Given the description of an element on the screen output the (x, y) to click on. 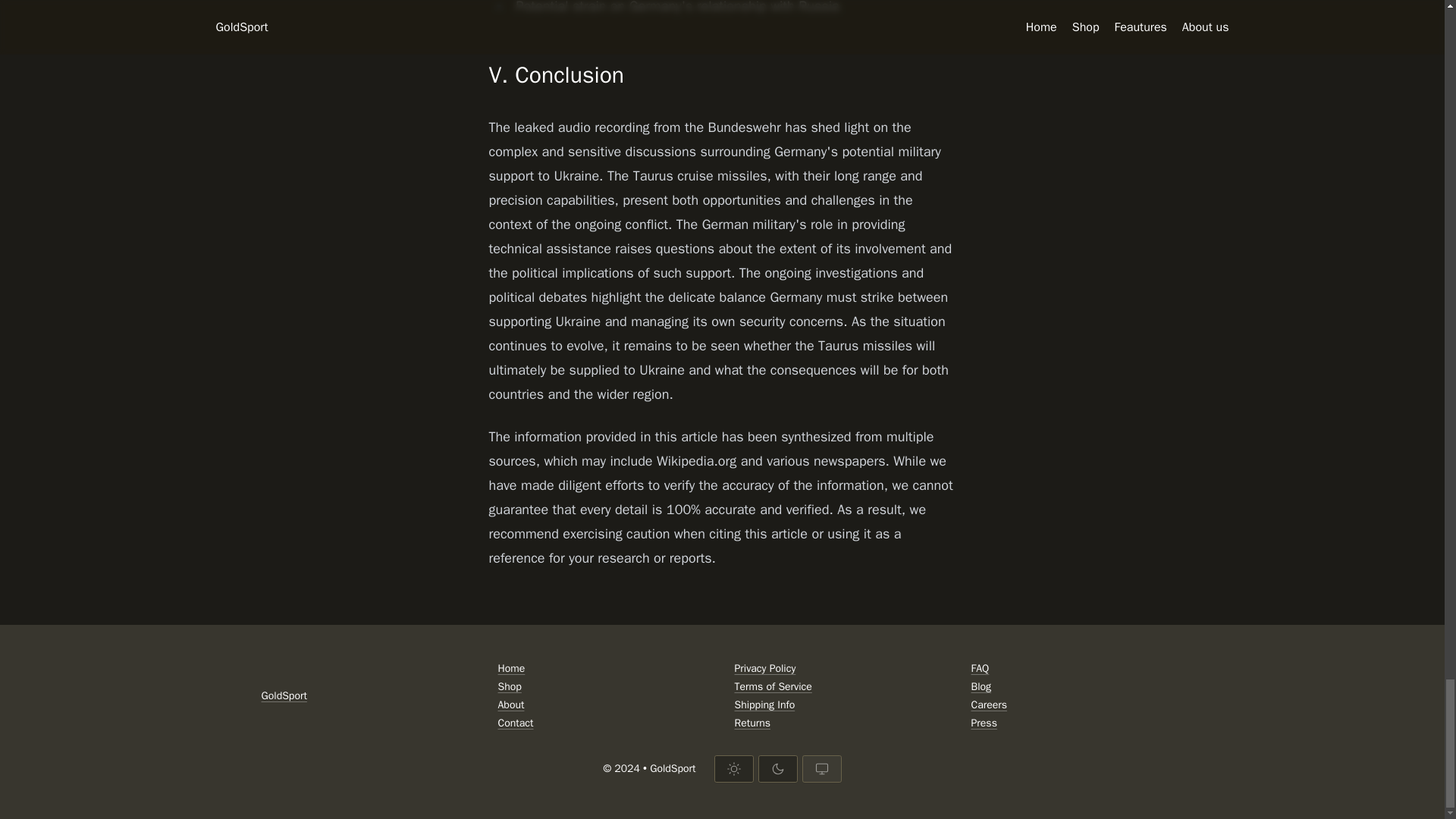
Shop (603, 686)
Privacy Policy (839, 668)
Terms of Service (839, 686)
Returns (839, 723)
About (603, 704)
Home (603, 668)
Contact (603, 723)
Shipping Info (839, 704)
Blog (1076, 686)
Careers (1076, 704)
